Given the description of an element on the screen output the (x, y) to click on. 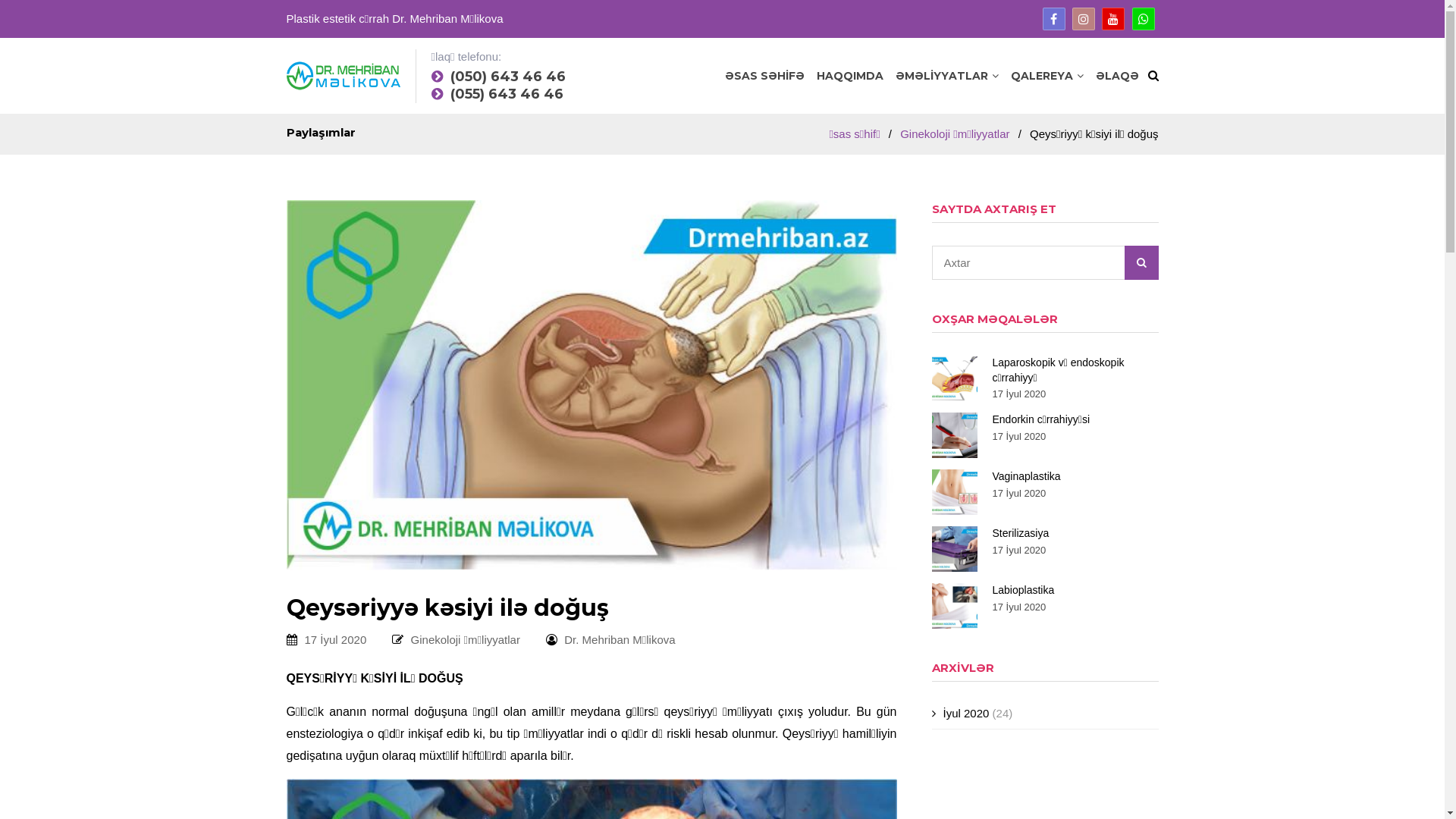
QALEREYA Element type: text (1046, 75)
HAQQIMDA Element type: text (848, 75)
